Given the description of an element on the screen output the (x, y) to click on. 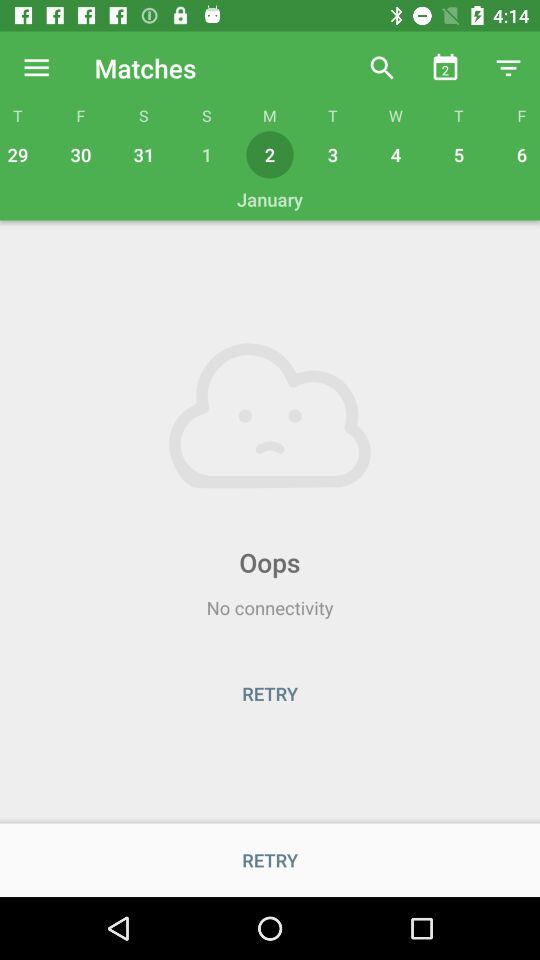
click the icon to the left of f item (36, 68)
